Given the description of an element on the screen output the (x, y) to click on. 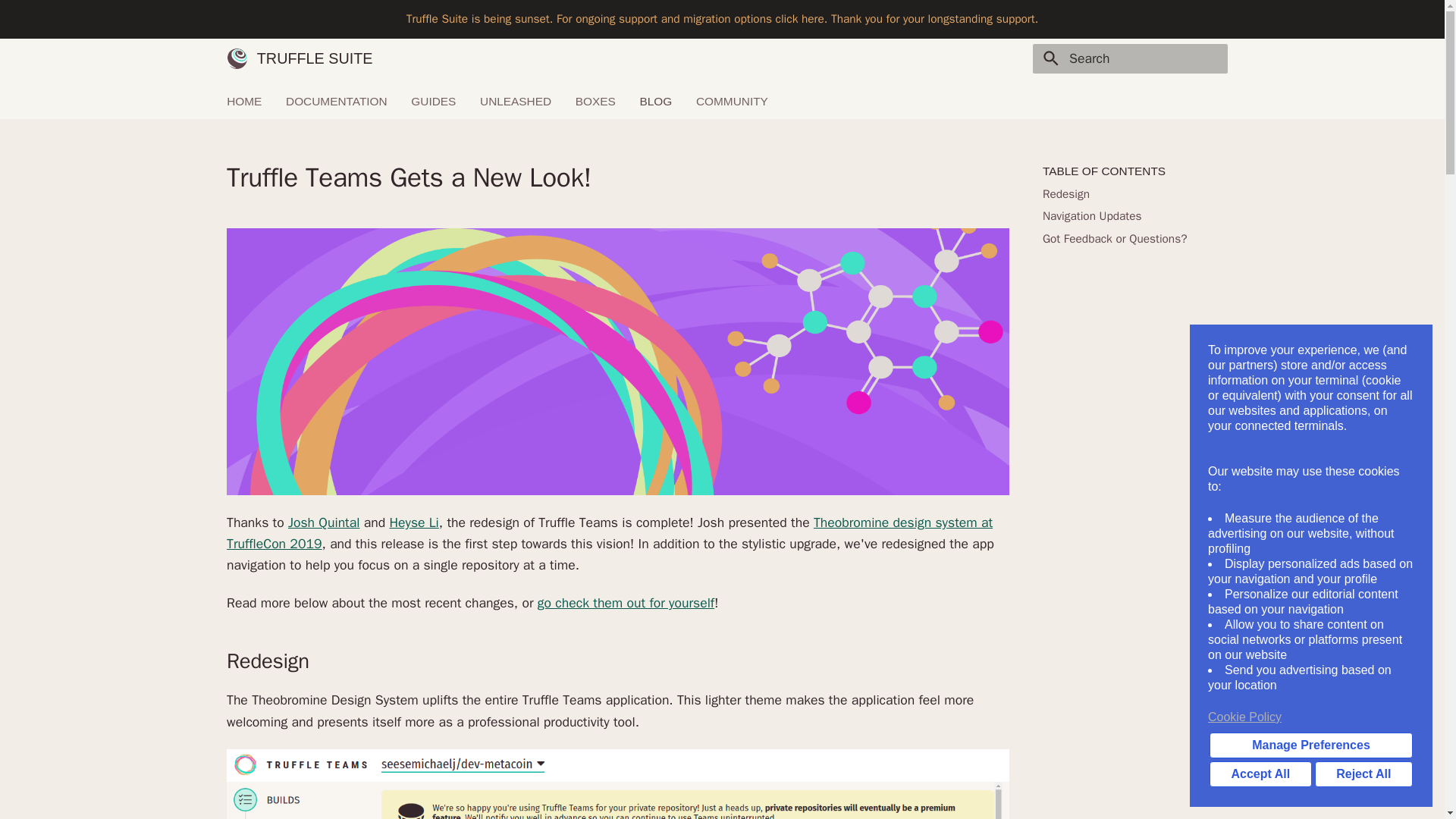
COMMUNITY (731, 99)
Josh Quintal (323, 522)
Truffle Suite (236, 58)
Accept All (1260, 774)
Heyse Li (413, 522)
DOCUMENTATION (336, 99)
Theobromine design system at TruffleCon 2019 (609, 533)
Navigation Updates (1129, 215)
GUIDES (432, 99)
go check them out for yourself (625, 602)
Got Feedback or Questions? (1129, 238)
UNLEASHED (515, 99)
BOXES (595, 99)
BLOG (655, 99)
Redesign (1129, 193)
